Given the description of an element on the screen output the (x, y) to click on. 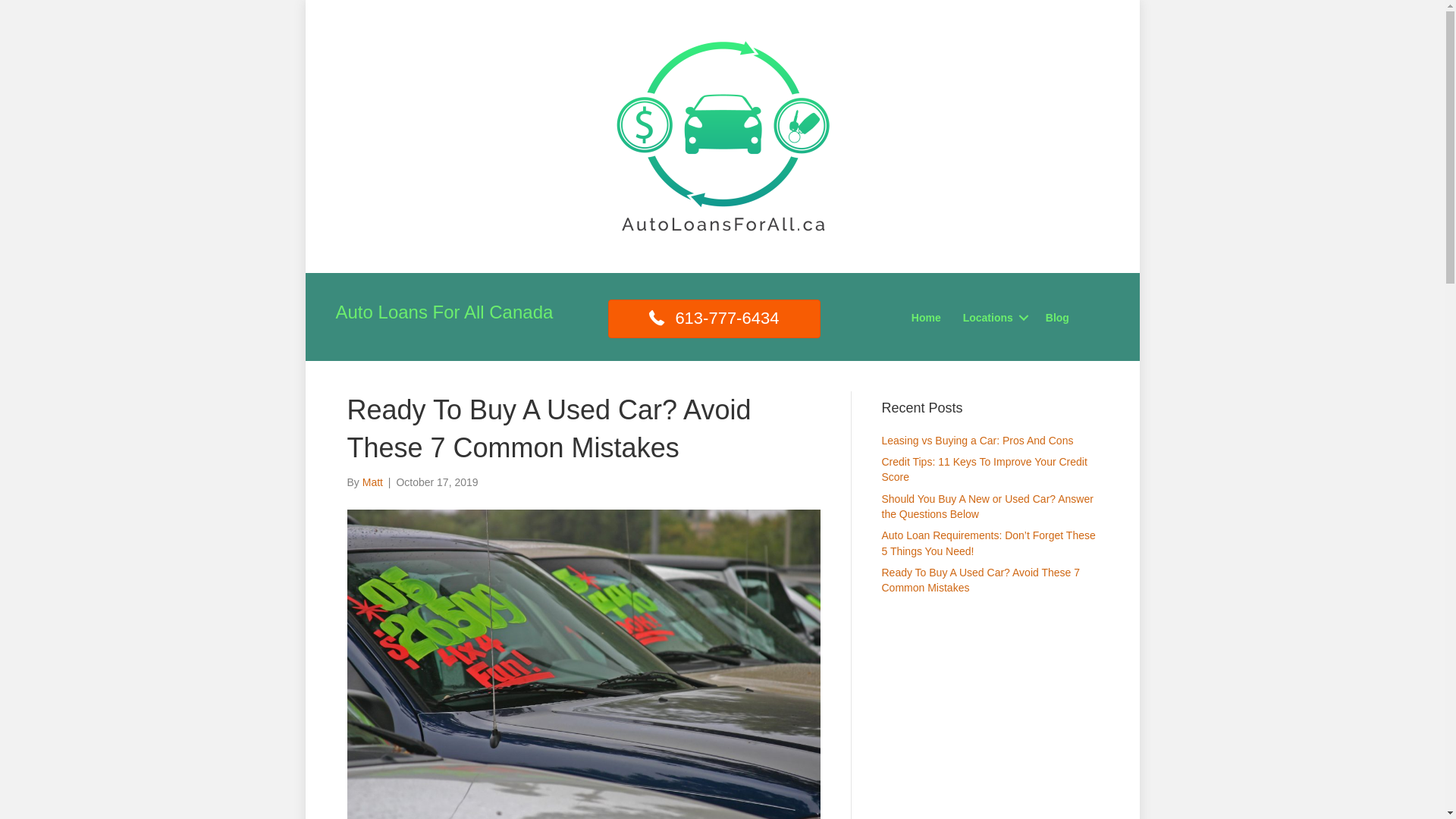
Leasing vs Buying a Car: Pros And Cons Element type: text (977, 440)
Auto Loans for all canada square Element type: hover (721, 136)
Blog Element type: text (1057, 317)
613-777-6434 Element type: text (714, 318)
Should You Buy A New or Used Car? Answer the Questions Below Element type: text (986, 506)
Home Element type: text (925, 317)
Ready To Buy A Used Car? Avoid These 7 Common Mistakes Element type: text (980, 579)
Locations Element type: text (993, 317)
Credit Tips: 11 Keys To Improve Your Credit Score Element type: text (983, 469)
Matt Element type: text (372, 482)
